Given the description of an element on the screen output the (x, y) to click on. 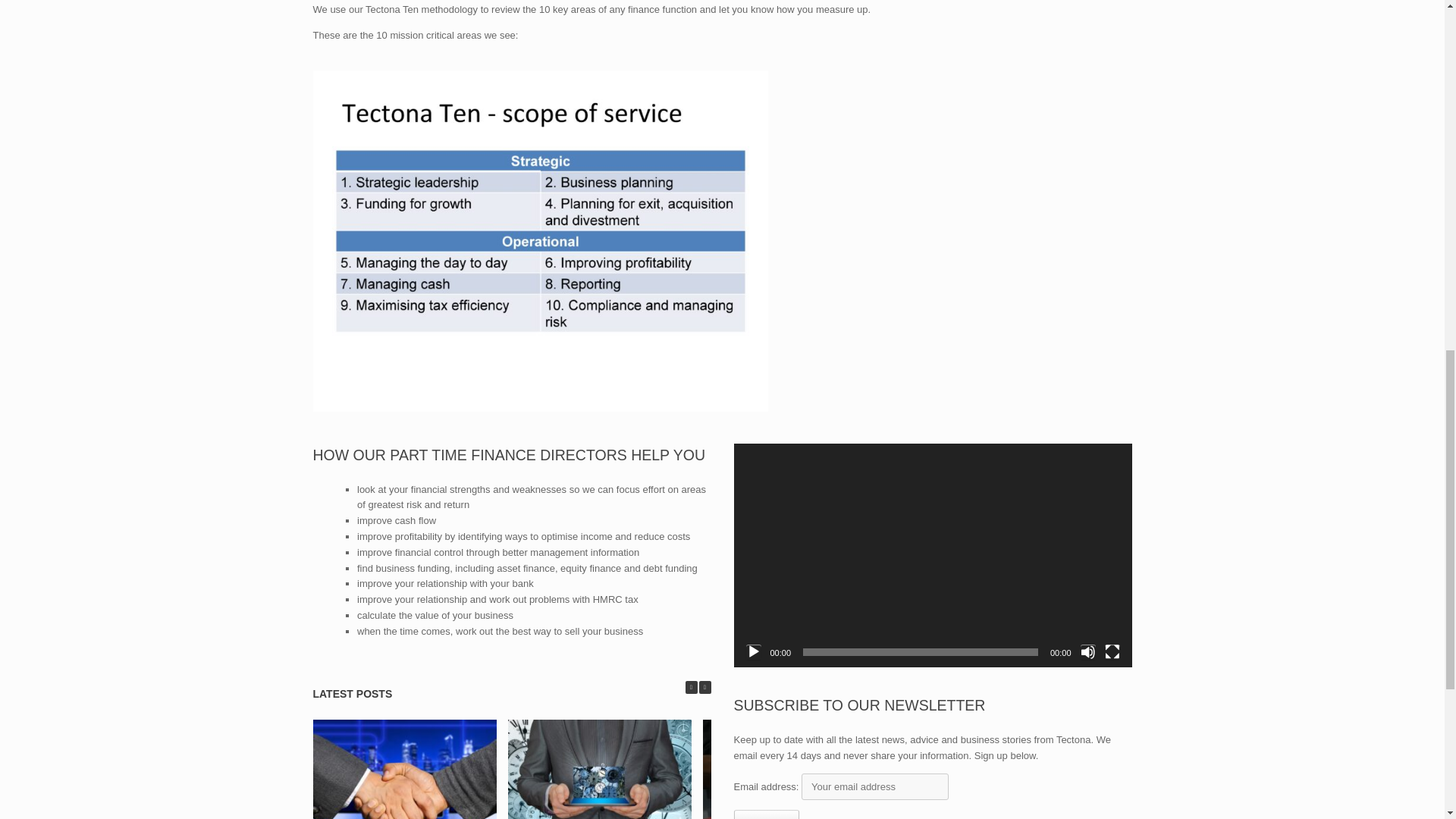
Sign up (766, 814)
Play (753, 652)
Next (704, 686)
Fullscreen (1111, 652)
Previous (691, 686)
Mute (1087, 652)
